Given the description of an element on the screen output the (x, y) to click on. 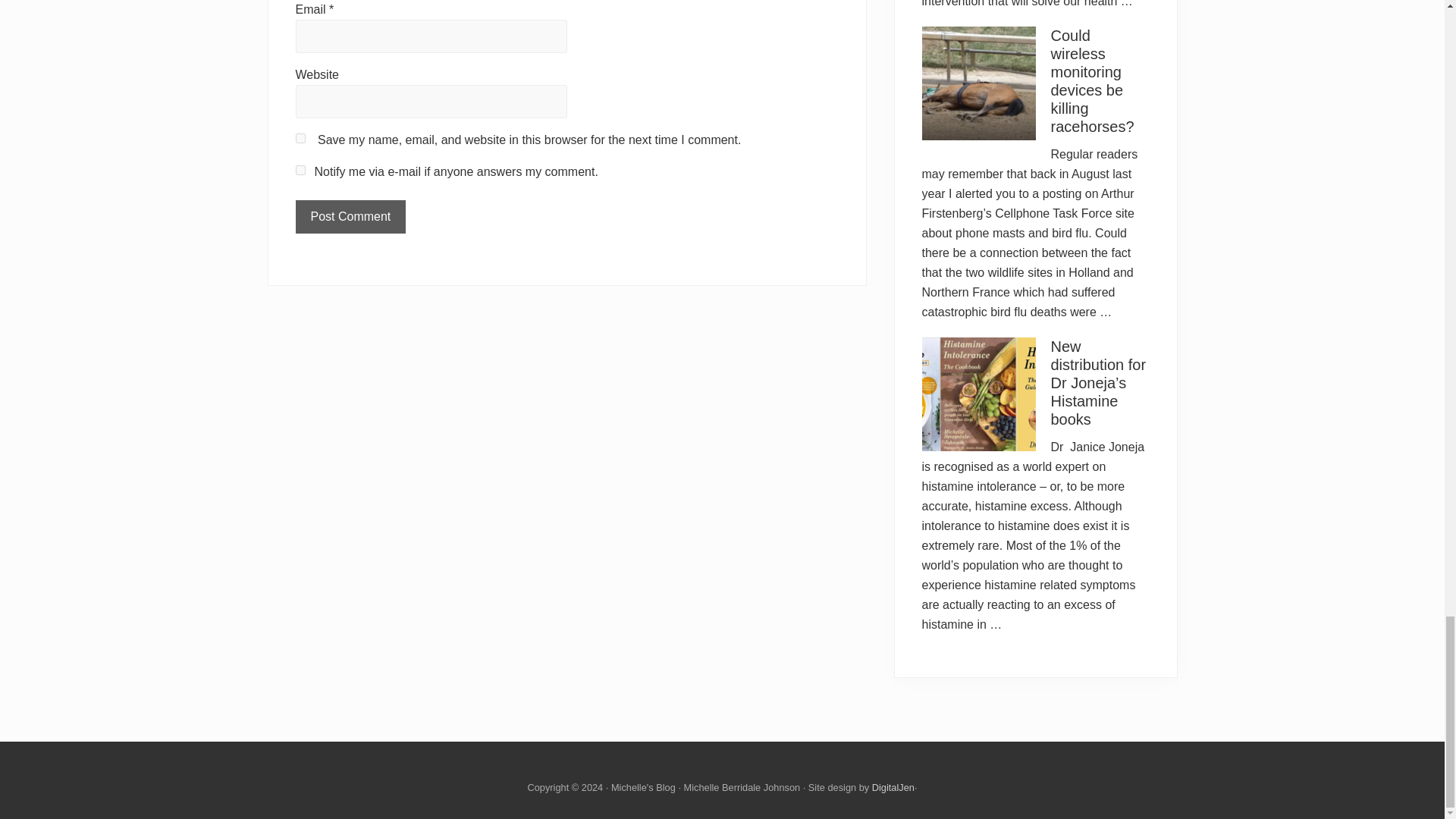
Post Comment (350, 216)
on (300, 170)
yes (300, 138)
